Given the description of an element on the screen output the (x, y) to click on. 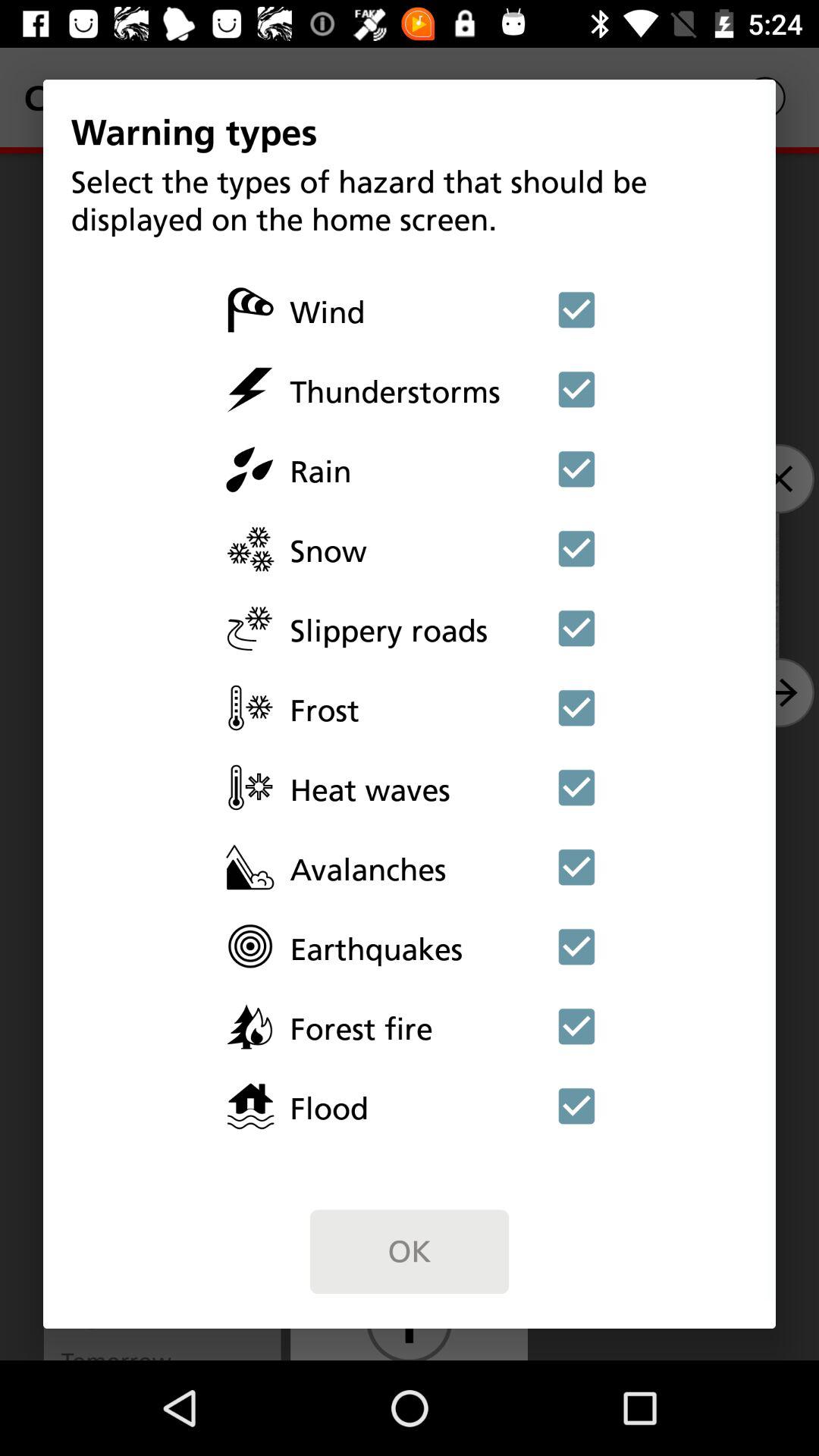
select thunderstorm warning alerts (576, 389)
